Given the description of an element on the screen output the (x, y) to click on. 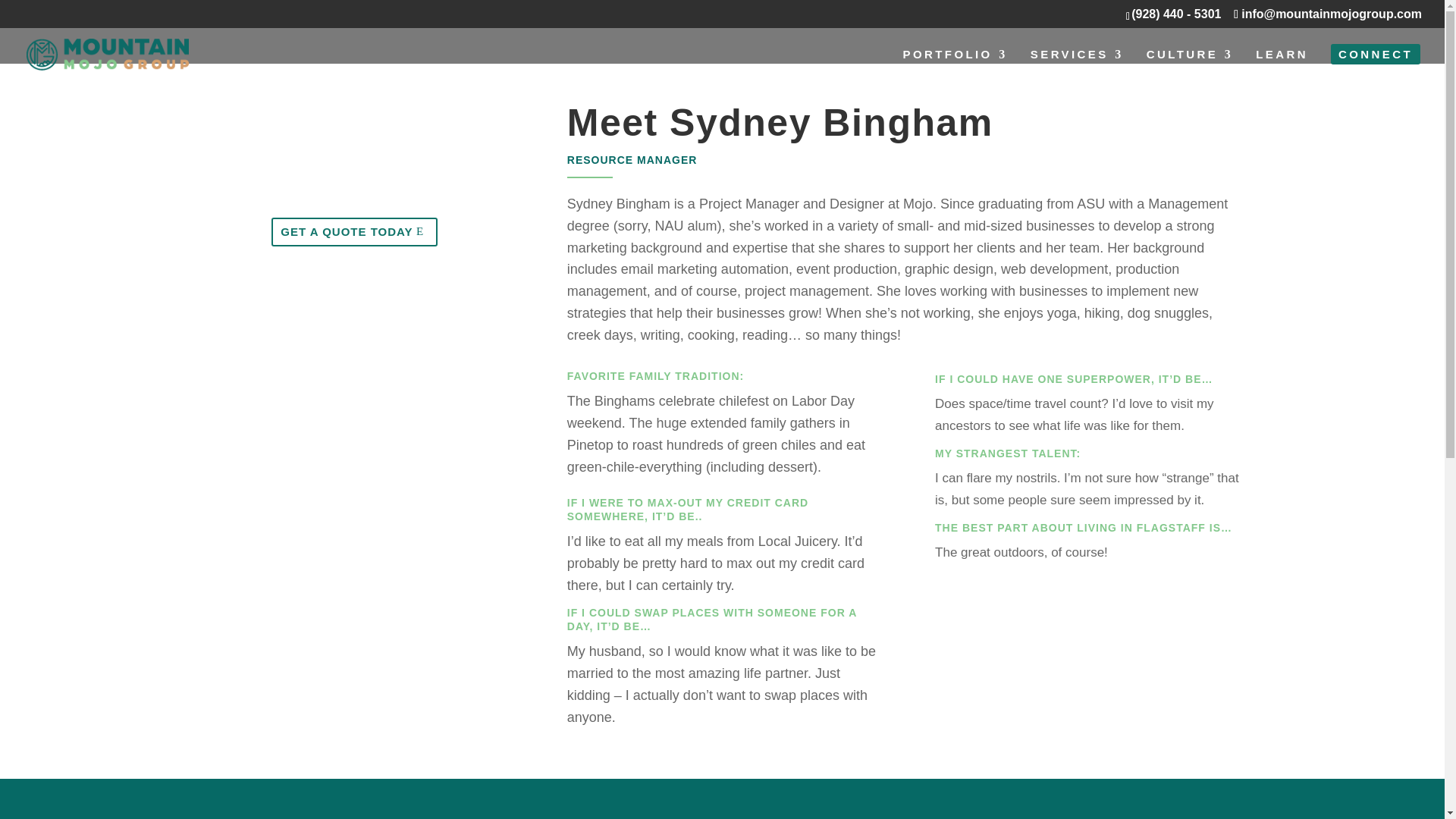
PORTFOLIO (954, 67)
SERVICES (1077, 67)
GET A QUOTE TODAY (354, 232)
LEARN (1281, 67)
CULTURE (1190, 67)
CONNECT (1375, 67)
